Given the description of an element on the screen output the (x, y) to click on. 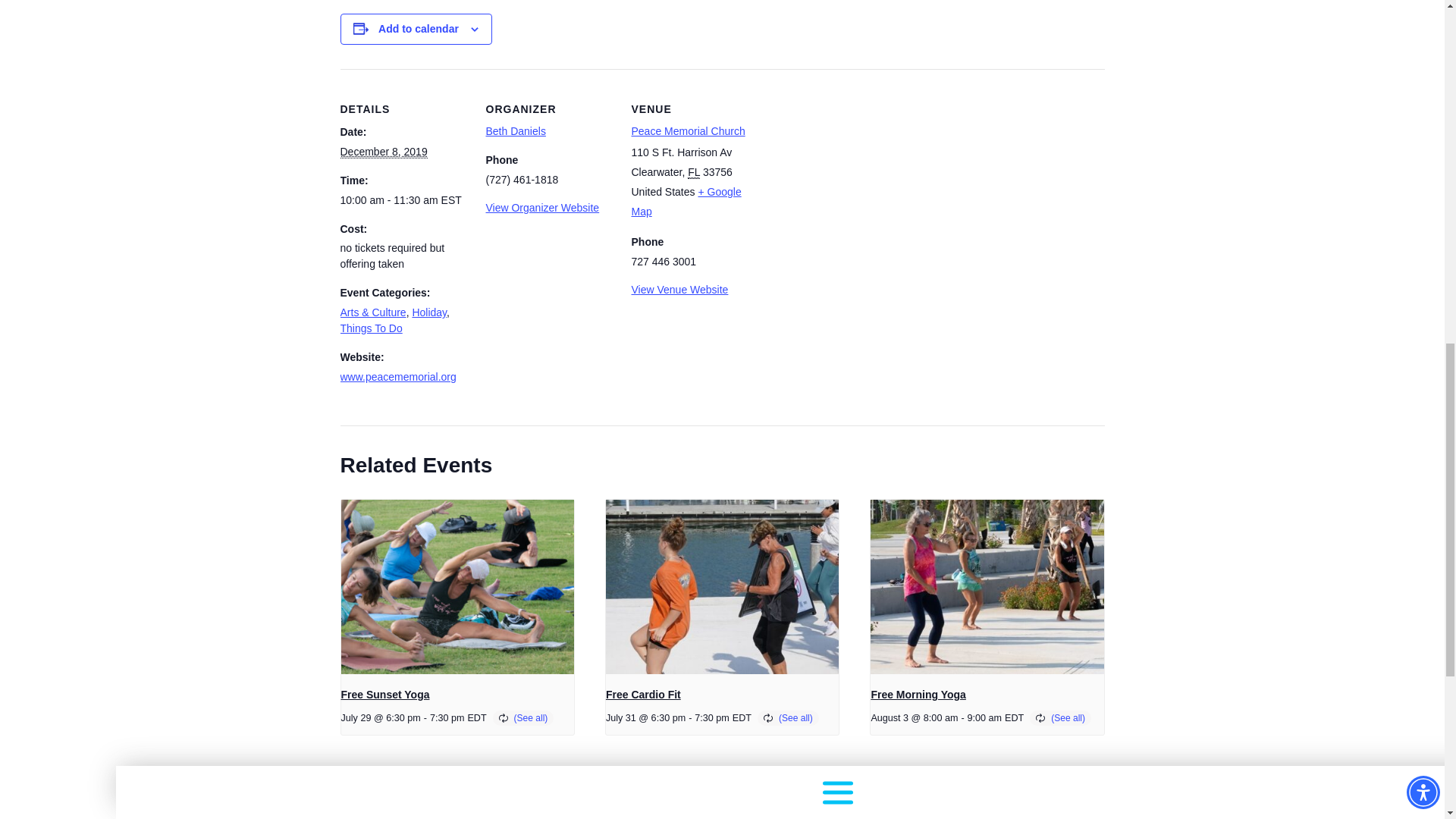
Beth Daniels (514, 131)
Holiday (429, 312)
Free Cardio Fit (643, 694)
Santa and Suds 5k (1040, 803)
2019-12-08 (382, 151)
Click to view a Google Map (685, 201)
Add to calendar (418, 28)
Beth Daniels (514, 131)
Things To Do (370, 328)
Miracle on Cleveland Street (456, 803)
Free Sunset Yoga (384, 694)
Free Morning Yoga (918, 694)
Florida (693, 172)
Peace Memorial Church (687, 131)
EXPLORE (837, 45)
